Given the description of an element on the screen output the (x, y) to click on. 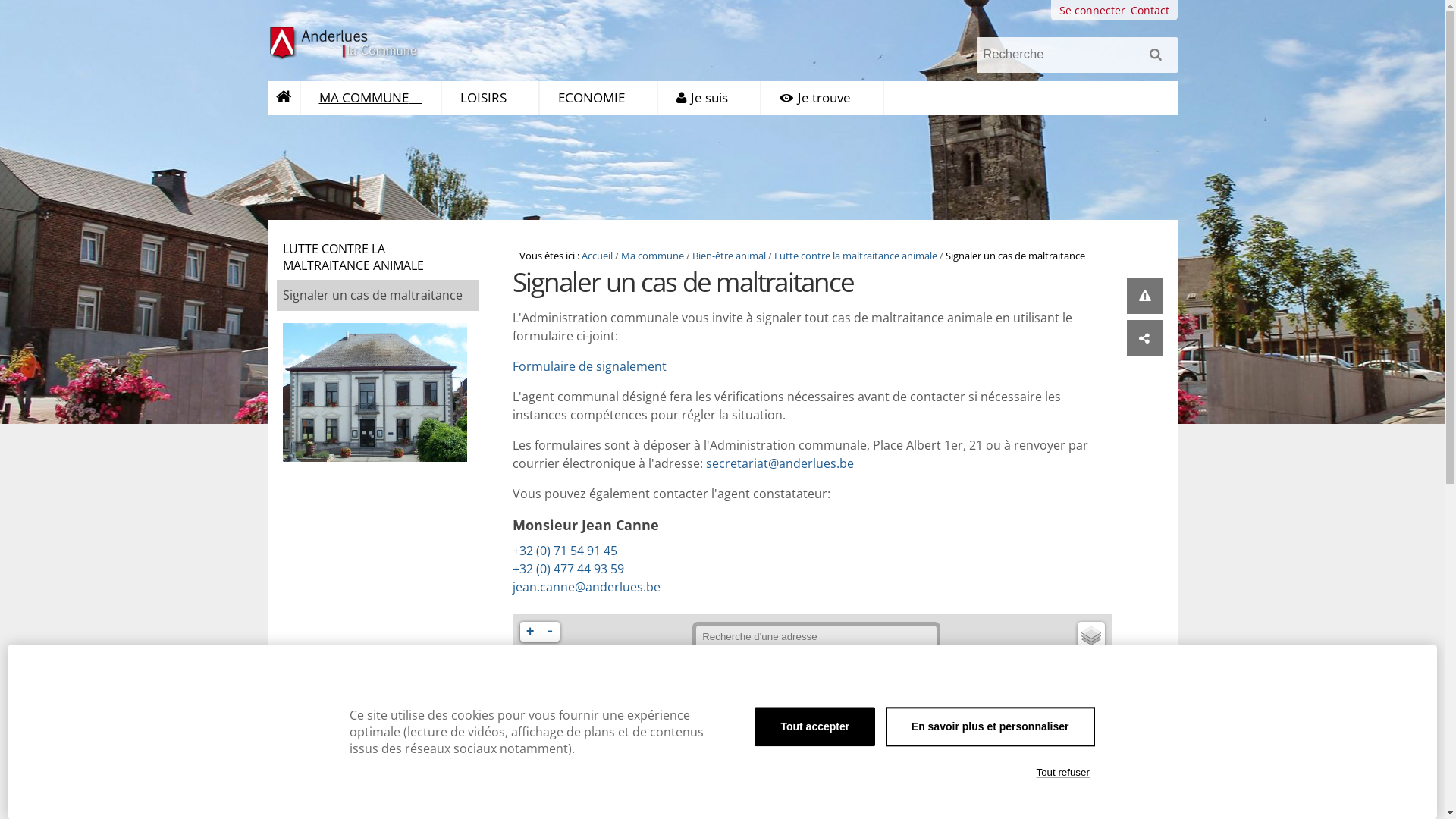
Anderlues la Commune Element type: hover (346, 42)
Je suis Element type: text (710, 98)
Rechercher Element type: text (1159, 59)
+ Element type: text (529, 631)
Aller au contenu. Element type: text (291, 104)
jean.canne@anderlues.be Element type: text (586, 586)
Lutte contre la maltraitance animale Element type: text (855, 255)
Je trouve Element type: text (822, 98)
Layers Element type: hover (1090, 635)
Ma commune Element type: text (652, 255)
secretariat@anderlues.be Element type: text (779, 463)
Recherche Element type: hover (1076, 54)
Formulaire de signalement Element type: text (589, 365)
- Element type: text (549, 631)
+32 (0) 71 54 91 45 Element type: text (662, 550)
Tout refuser Element type: text (1063, 772)
Accueil Element type: text (596, 255)
En savoir plus et personnaliser Element type: text (990, 726)
MA COMMUNE Element type: text (370, 98)
Anderlues la Commune Element type: hover (366, 42)
ECONOMIE Element type: text (598, 98)
LOISIRS Element type: text (490, 98)
Signaler un cas de maltraitance Element type: text (377, 294)
Tout accepter Element type: text (814, 726)
LUTTE CONTRE LA MALTRAITANCE ANIMALE Element type: text (377, 256)
Monsieur Jean Canne Element type: text (662, 524)
Se connecter Element type: text (1092, 10)
Contact Element type: text (1149, 10)
+32 (0) 477 44 93 59 Element type: text (662, 568)
